Given the description of an element on the screen output the (x, y) to click on. 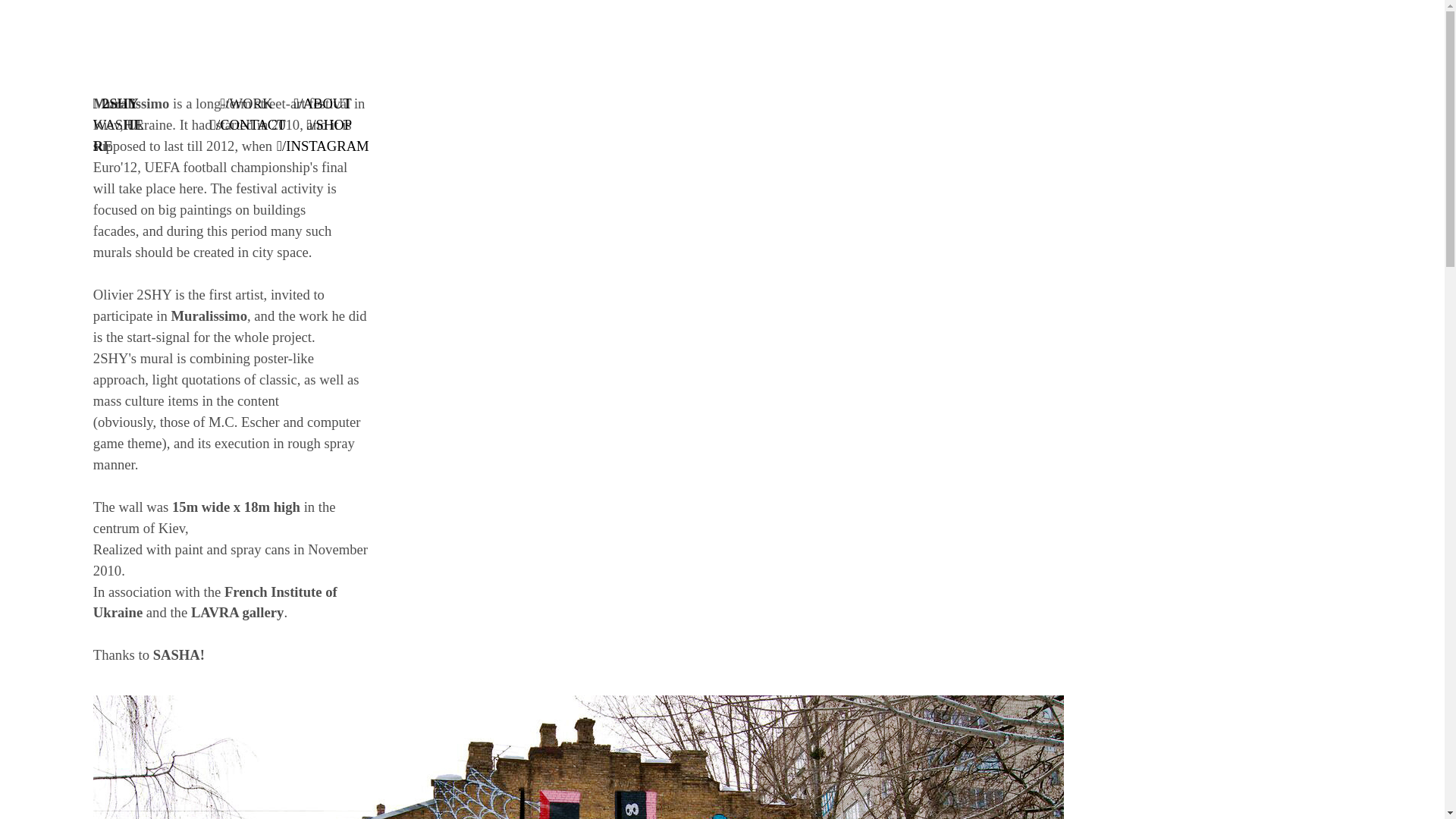
CONTACT (252, 125)
ABOUT (326, 104)
SHOP (332, 125)
INSTAGRAM (326, 146)
